Given the description of an element on the screen output the (x, y) to click on. 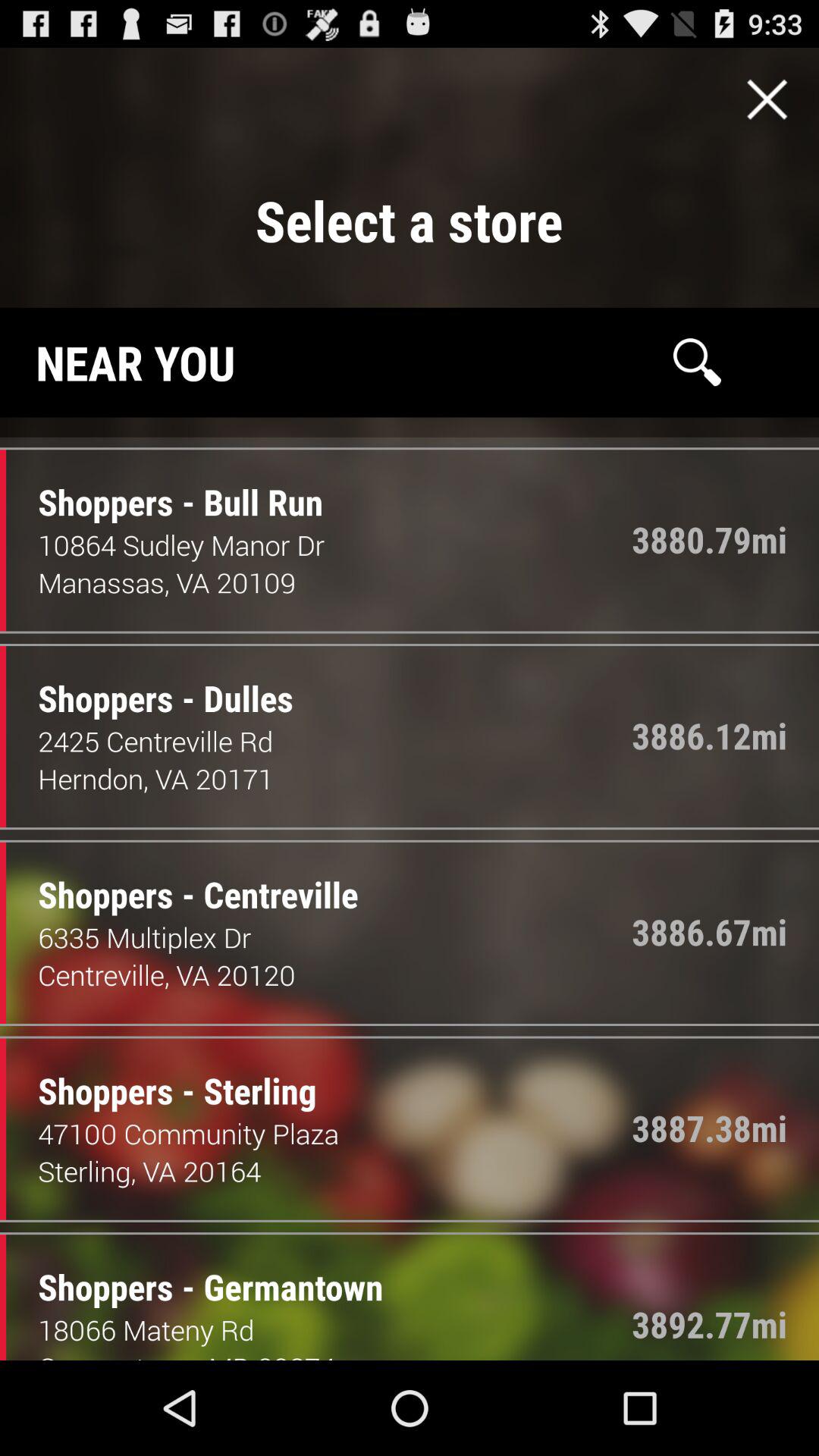
search (697, 362)
